Given the description of an element on the screen output the (x, y) to click on. 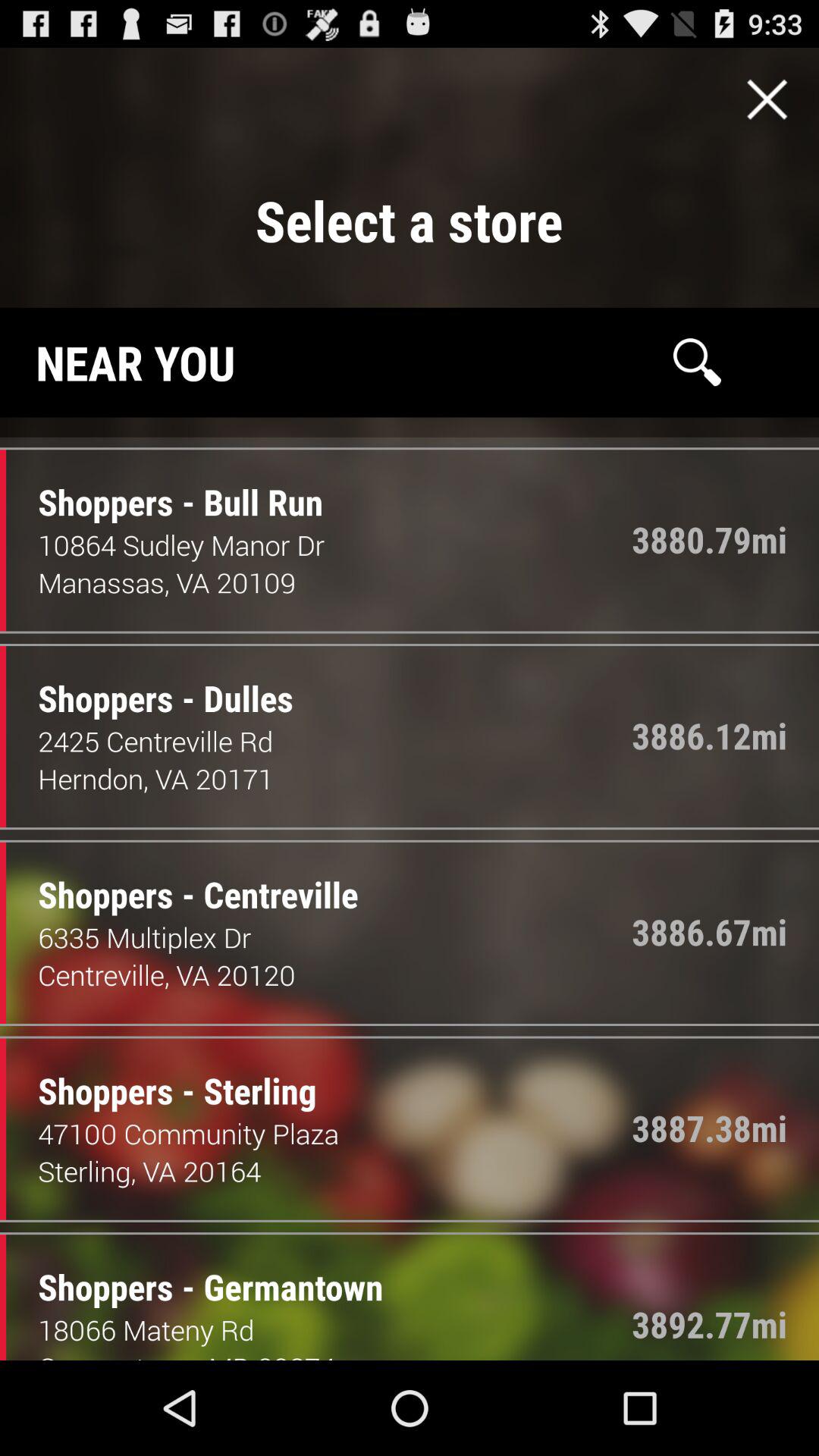
search (697, 362)
